Given the description of an element on the screen output the (x, y) to click on. 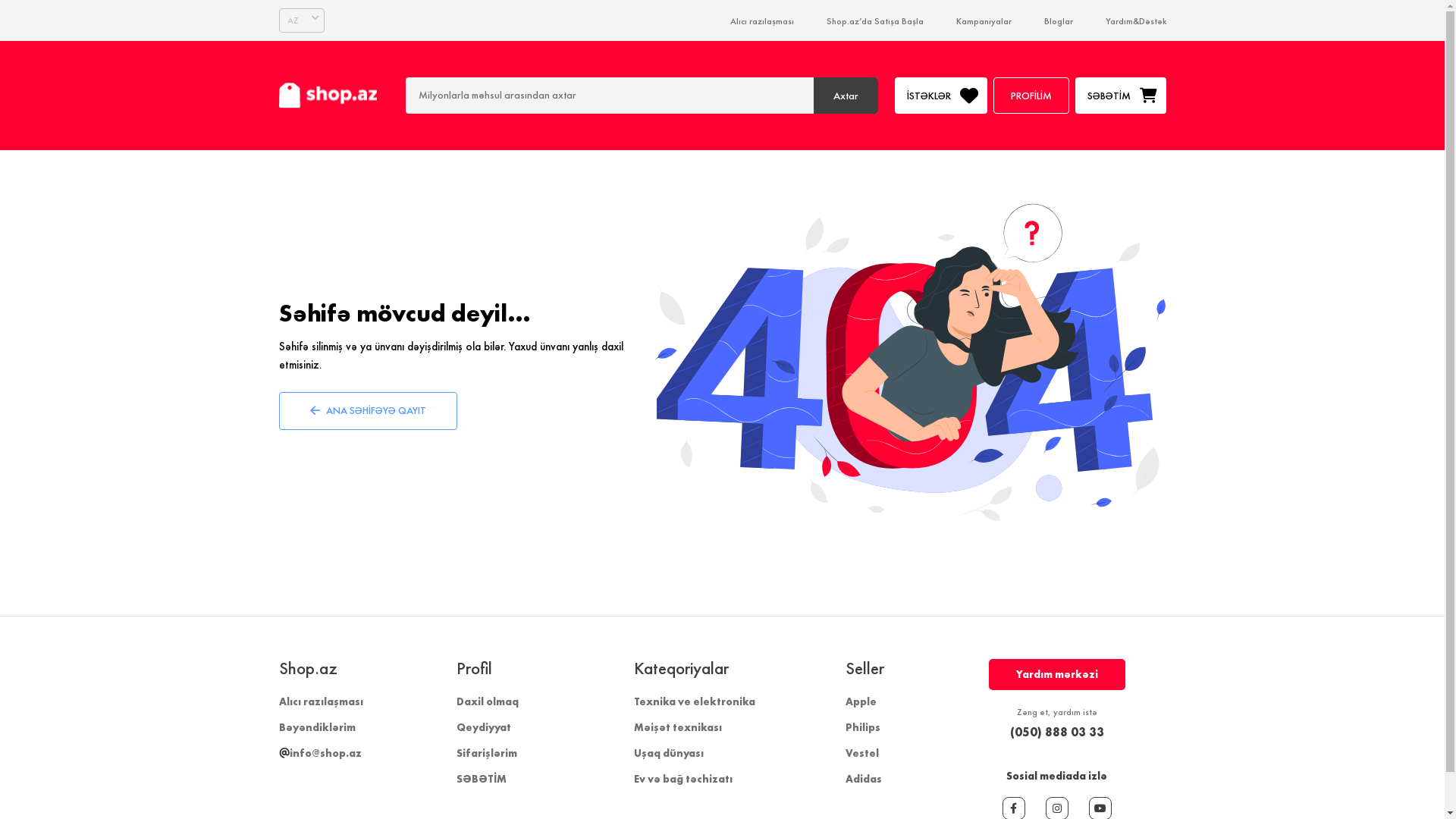
Philips Element type: text (861, 726)
Vestel Element type: text (861, 752)
Bloglar Element type: text (1057, 20)
Apple Element type: text (859, 701)
Kampaniyalar Element type: text (982, 20)
Adidas Element type: text (862, 778)
(050) 888 03 33 Element type: text (1056, 731)
Qeydiyyat Element type: text (483, 726)
Daxil olmaq Element type: text (487, 701)
Texnika ve elektronika Element type: text (694, 701)
info@shop.az Element type: text (320, 752)
